Given the description of an element on the screen output the (x, y) to click on. 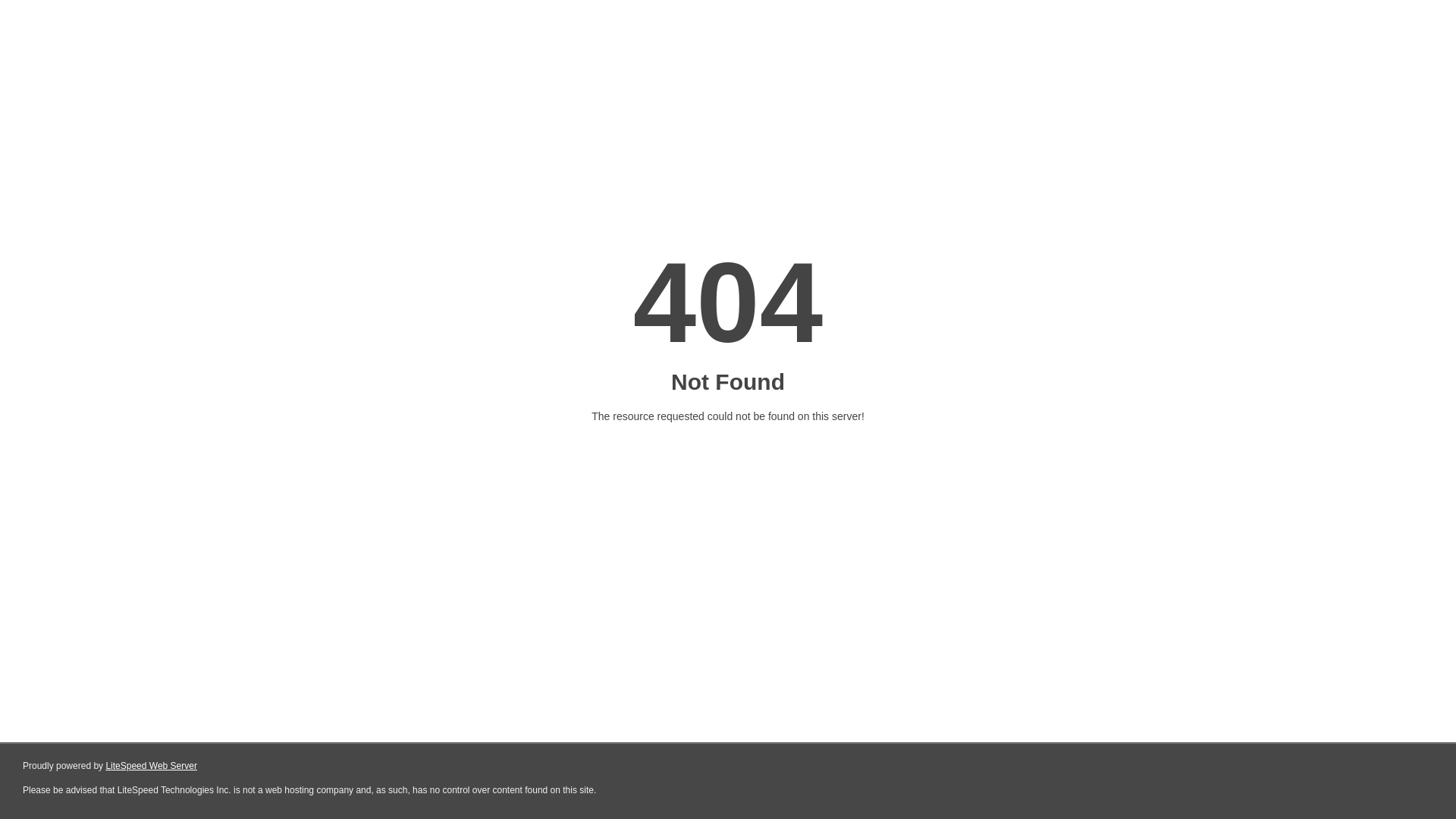
LiteSpeed Web Server Element type: text (151, 765)
